Given the description of an element on the screen output the (x, y) to click on. 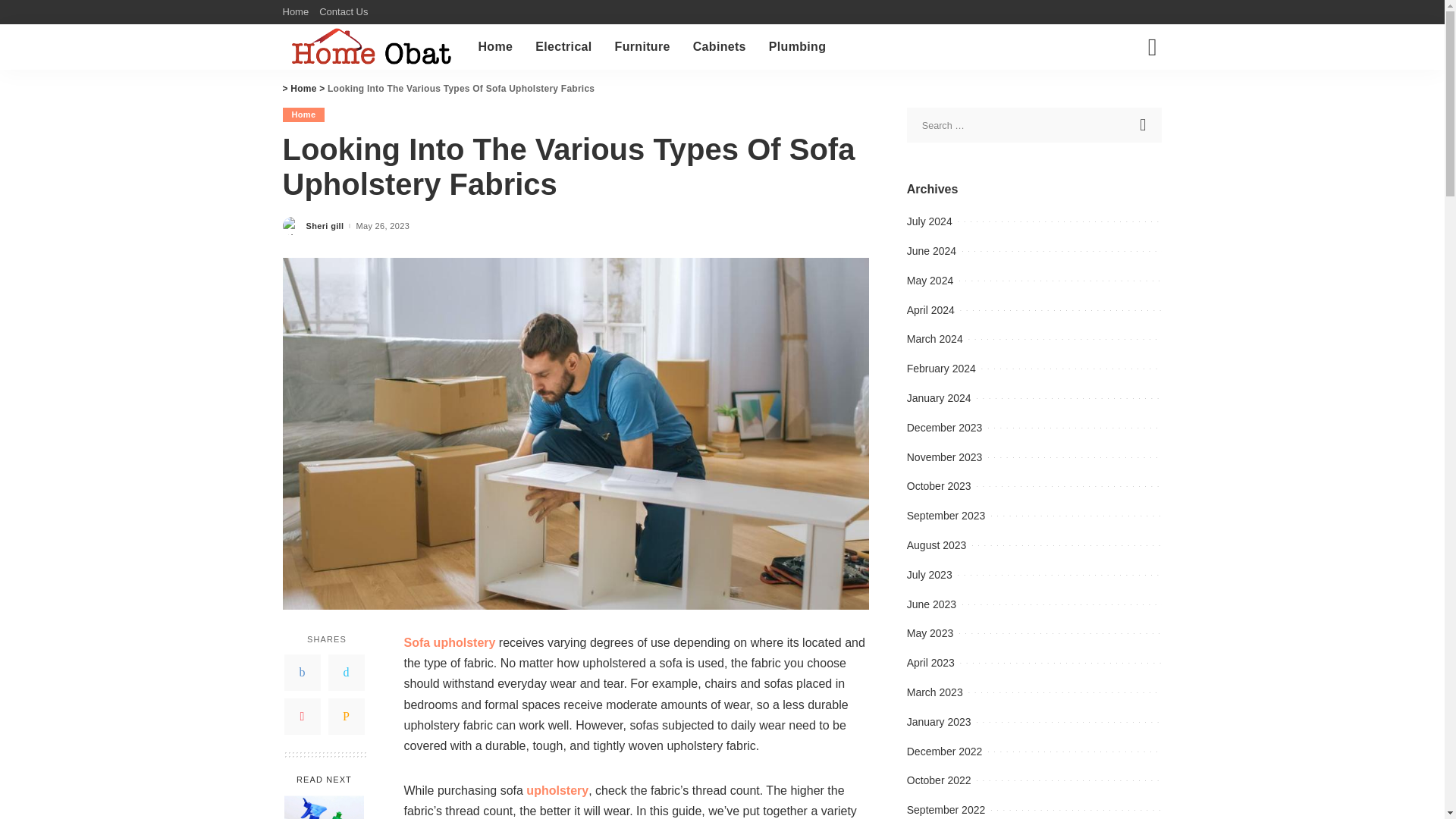
Search (1143, 124)
Search (1143, 124)
Twitter (345, 672)
Go to the Home Category archives. (302, 88)
Pinterest (301, 716)
Email (345, 716)
Facebook (301, 672)
